Given the description of an element on the screen output the (x, y) to click on. 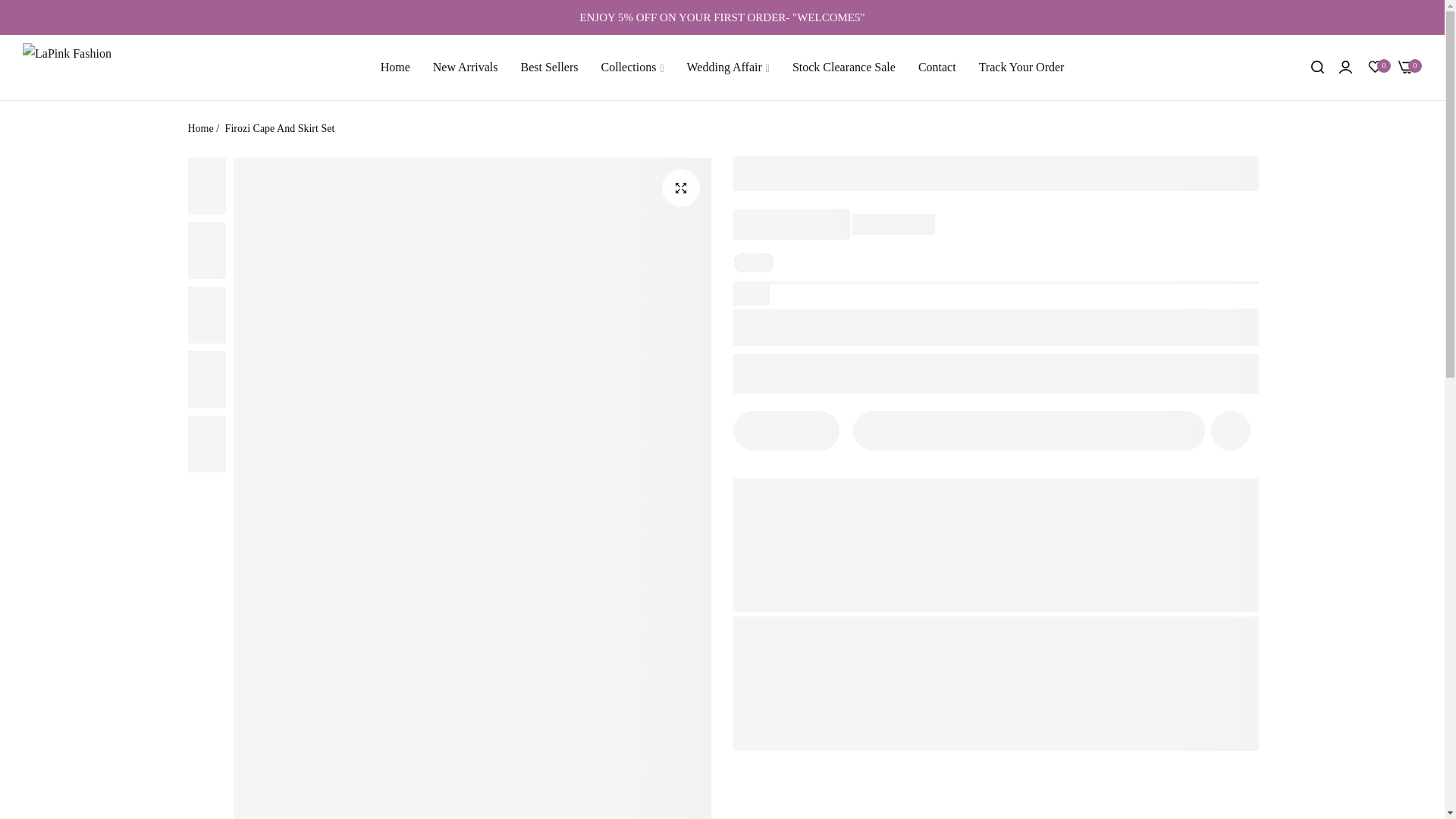
New Arrivals (465, 67)
1 (786, 430)
Track Your Order (1021, 67)
Stock Clearance Sale (843, 67)
Plus (818, 429)
Contact (937, 67)
Home (395, 67)
Size Guide (771, 365)
LaPink Fashion (79, 67)
Minus (753, 429)
Wedding Affair (727, 67)
Home (200, 128)
0 (1375, 66)
Share (853, 365)
Zoom in (679, 187)
